Given the description of an element on the screen output the (x, y) to click on. 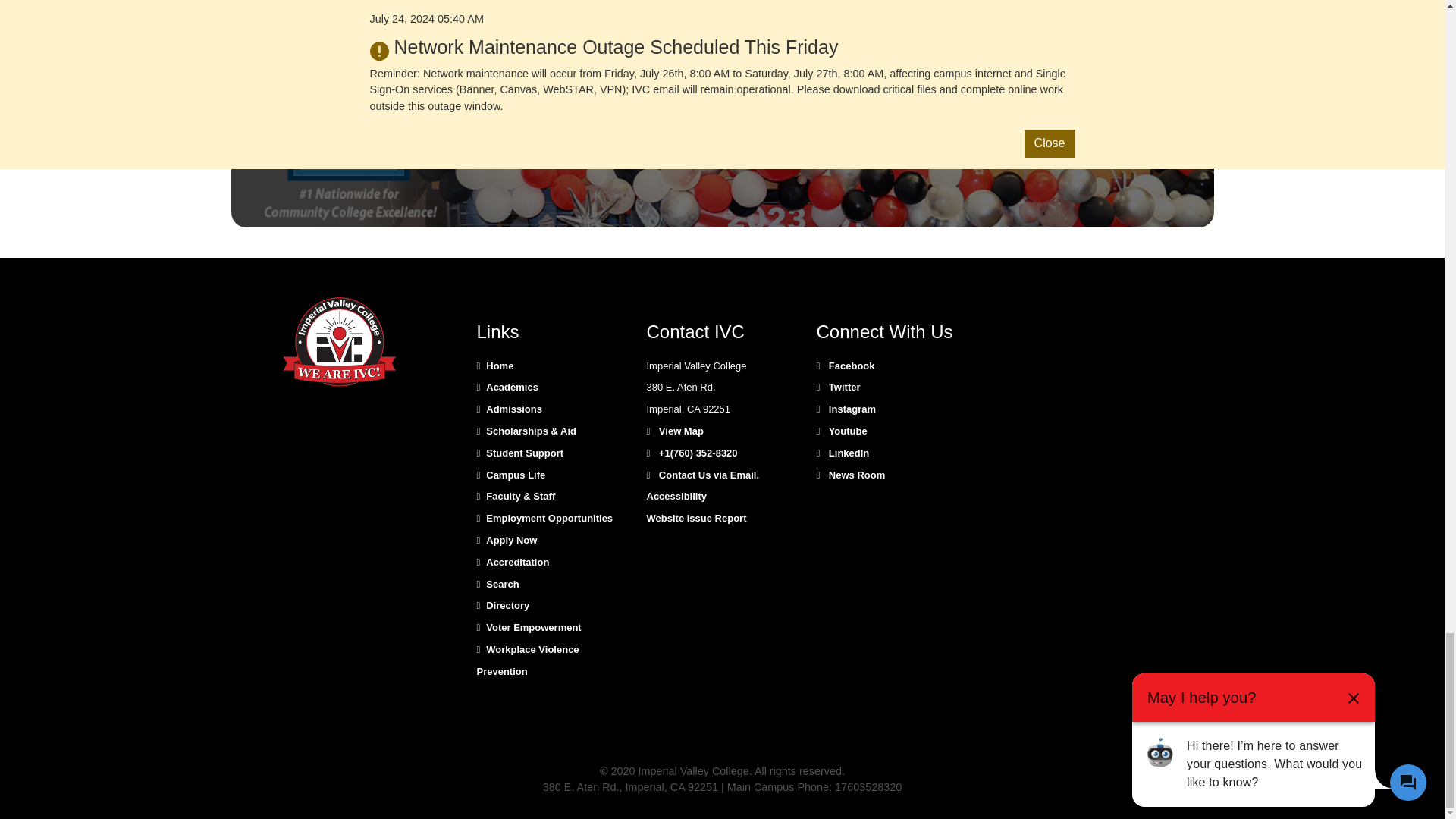
image link (339, 342)
